Given the description of an element on the screen output the (x, y) to click on. 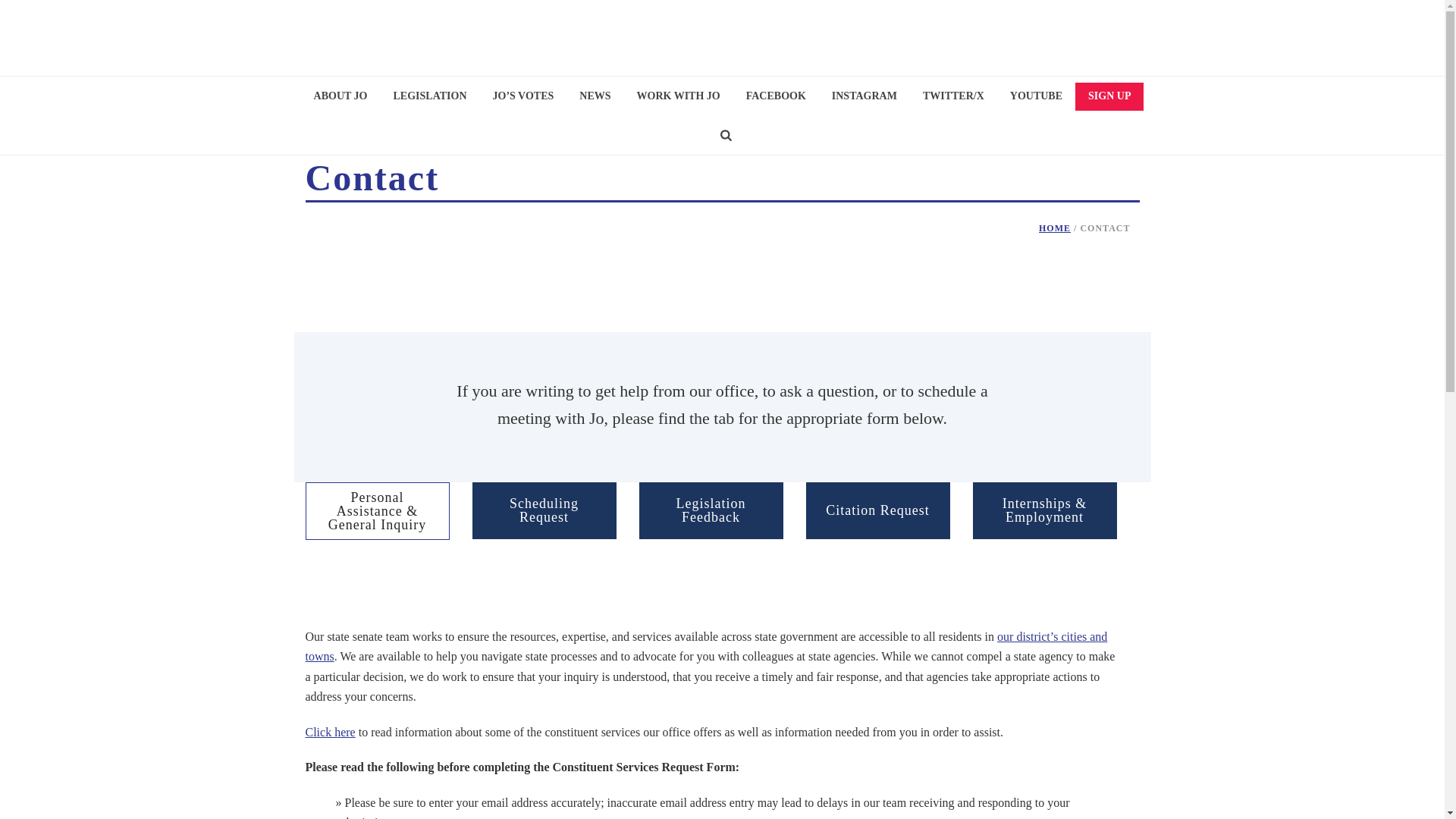
Scheduling Request (543, 510)
Jo Comerford (721, 38)
YOUTUBE (1036, 96)
Legislation Feedback (711, 510)
LEGISLATION (430, 96)
SIGN UP (1108, 96)
INSTAGRAM (864, 96)
LEGISLATION (430, 96)
SIGN UP (1108, 96)
FACEBOOK (775, 96)
